Given the description of an element on the screen output the (x, y) to click on. 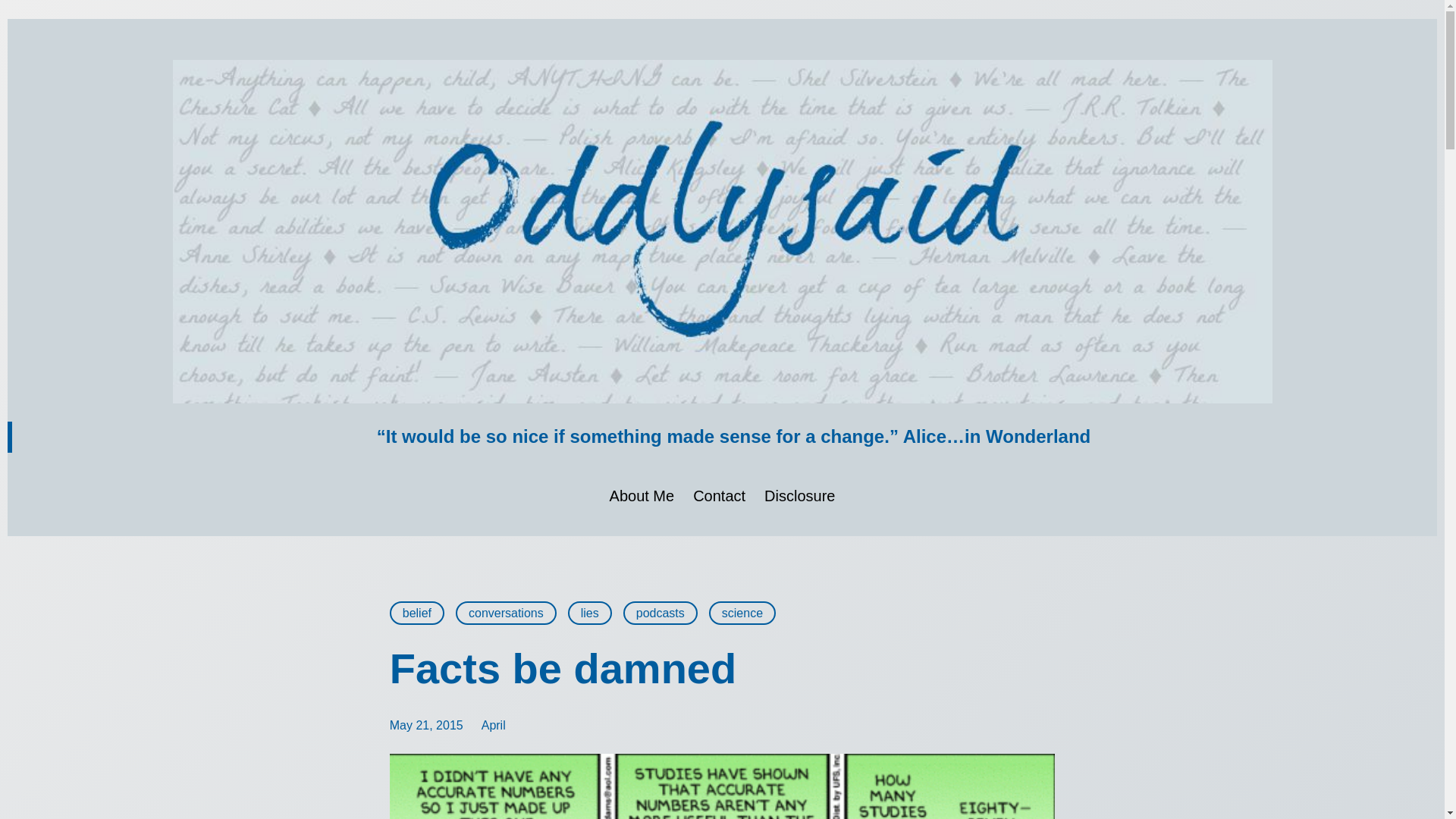
podcasts (660, 612)
Contact (719, 495)
belief (417, 612)
lies (589, 612)
conversations (505, 612)
science (742, 612)
Disclosure (799, 495)
About Me (642, 495)
